Given the description of an element on the screen output the (x, y) to click on. 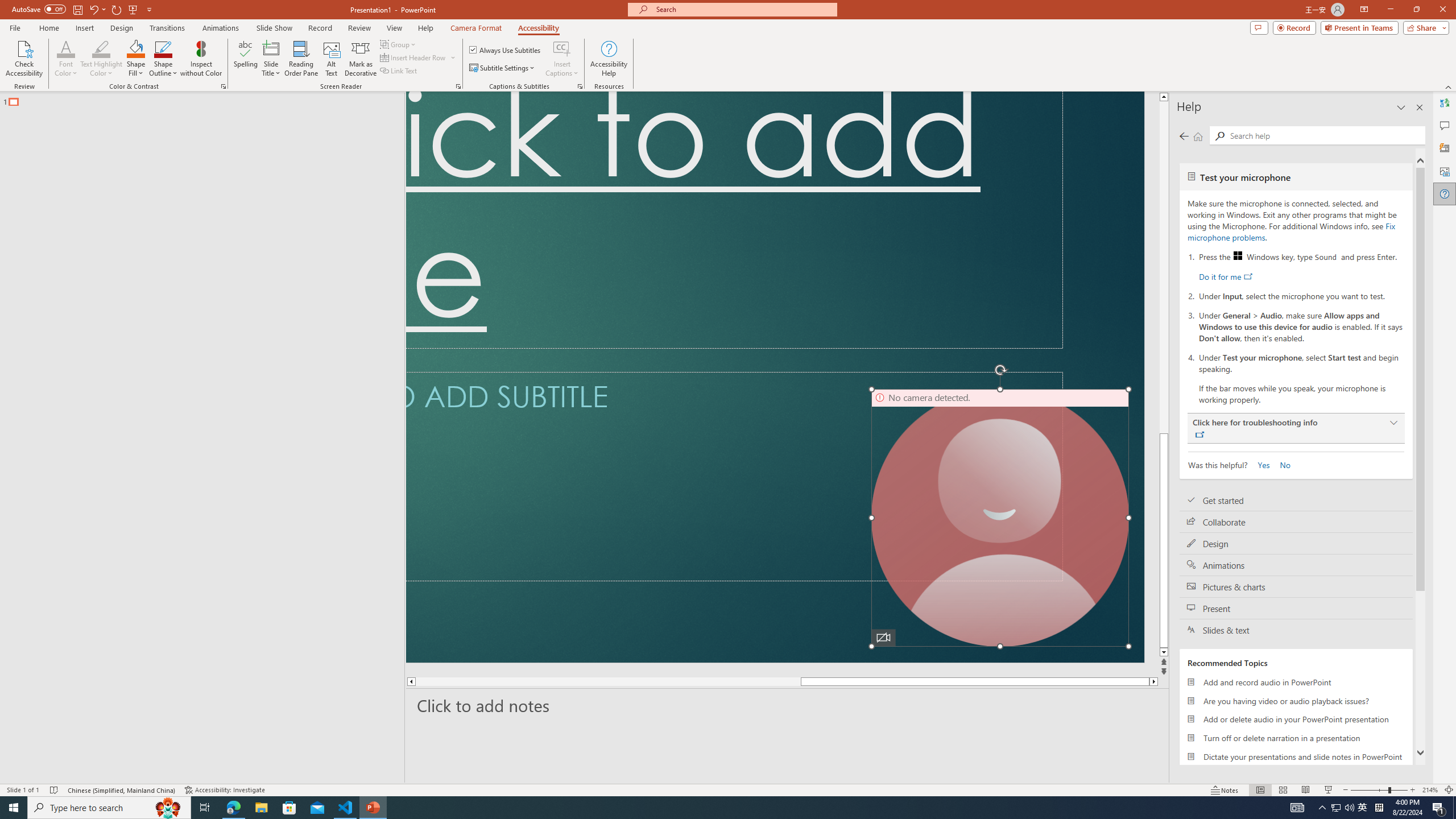
Group (398, 44)
Subtitle Settings (502, 67)
Reading Order Pane (301, 58)
Camera Format (475, 28)
